Given the description of an element on the screen output the (x, y) to click on. 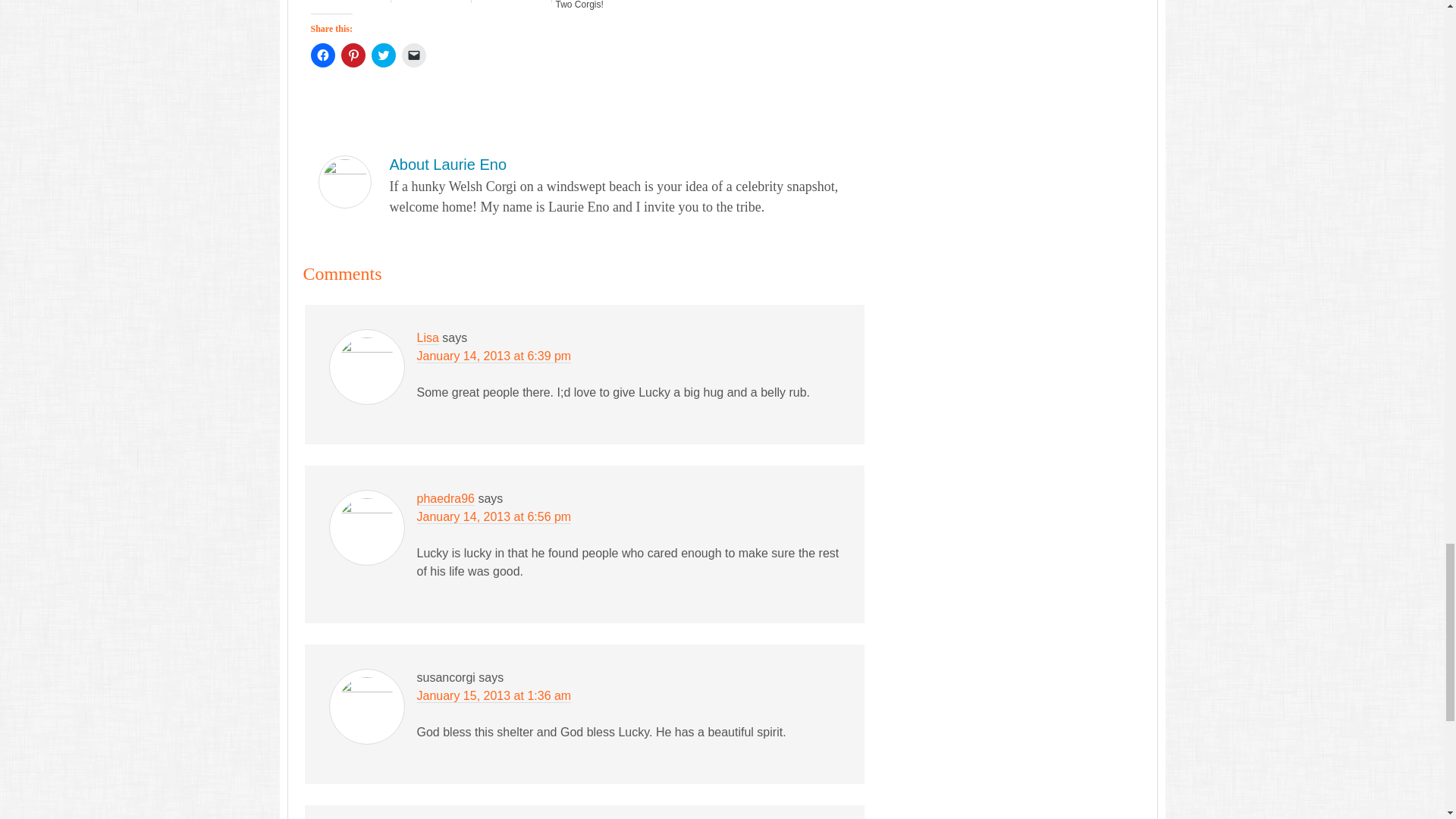
Click to share on Facebook (322, 55)
phaedra96 (446, 499)
Click to share on Twitter (383, 55)
Click to share on Pinterest (352, 55)
January 14, 2013 at 6:39 pm (494, 356)
Click to email a link to a friend (413, 55)
Lisa (427, 337)
